Given the description of an element on the screen output the (x, y) to click on. 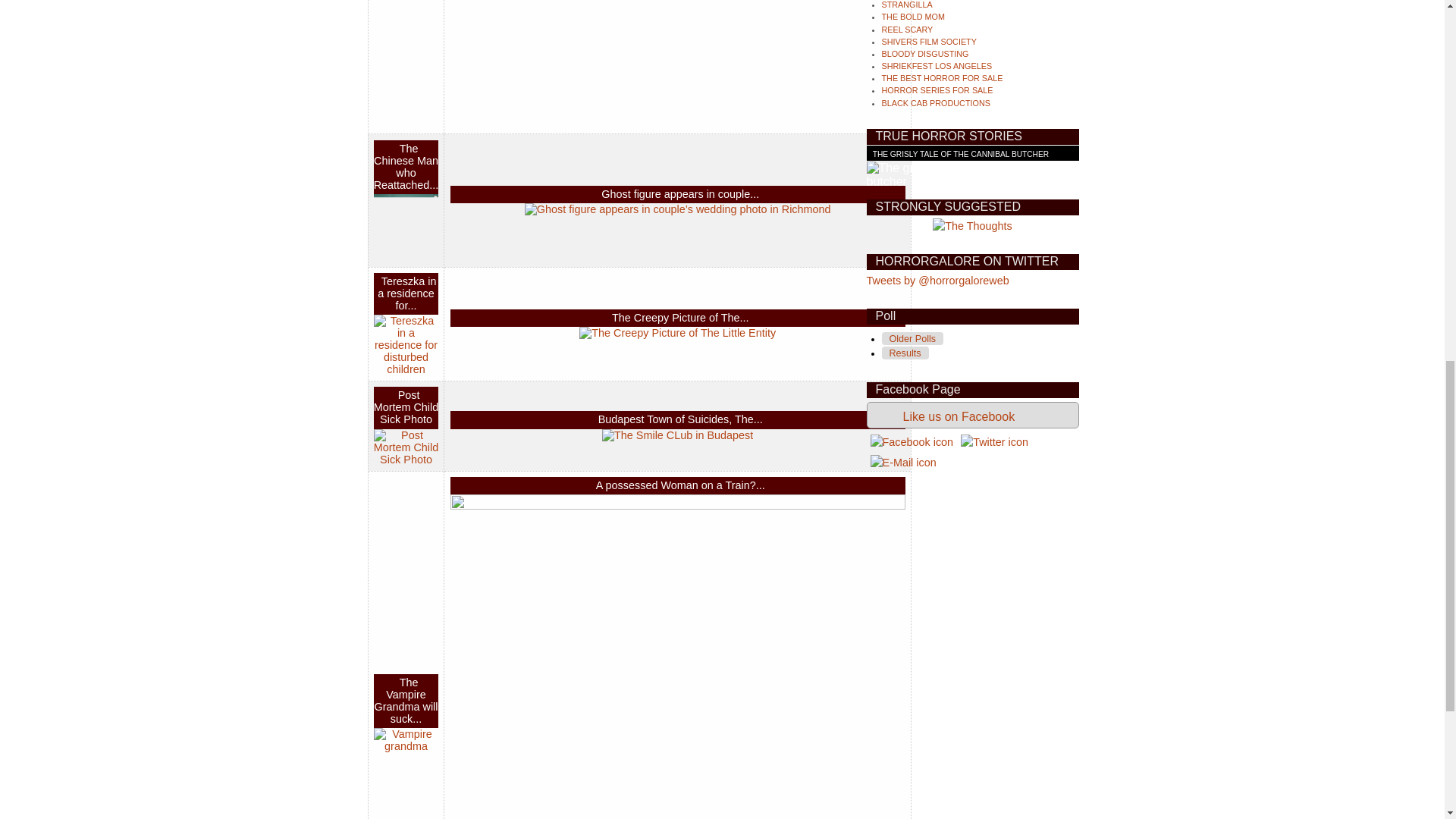
Tereszka, a child in a residence for disturbed children (406, 344)
The Creepy Picture of The... (680, 317)
Post Mortem Child Sick Photo (406, 407)
A possessed Woman on a Train?... (680, 485)
Xiao Wei lost his right hand in an accident (406, 226)
Post Mortem Child Sick Photo (406, 447)
Budapest Town of Suicides, The... (680, 419)
Ghost figure appears in couple... (679, 193)
The Chinese Man who Reattached... (406, 166)
Jeffrey Dahmer's Victim, just after he killed him (677, 63)
The Vampire Grandma will suck... (406, 700)
vampire grandma  (406, 740)
The Smile CLub in Budapest (677, 435)
Tereszka in a residence for... (406, 293)
The Creepy Picture of The Little Entity (677, 332)
